Given the description of an element on the screen output the (x, y) to click on. 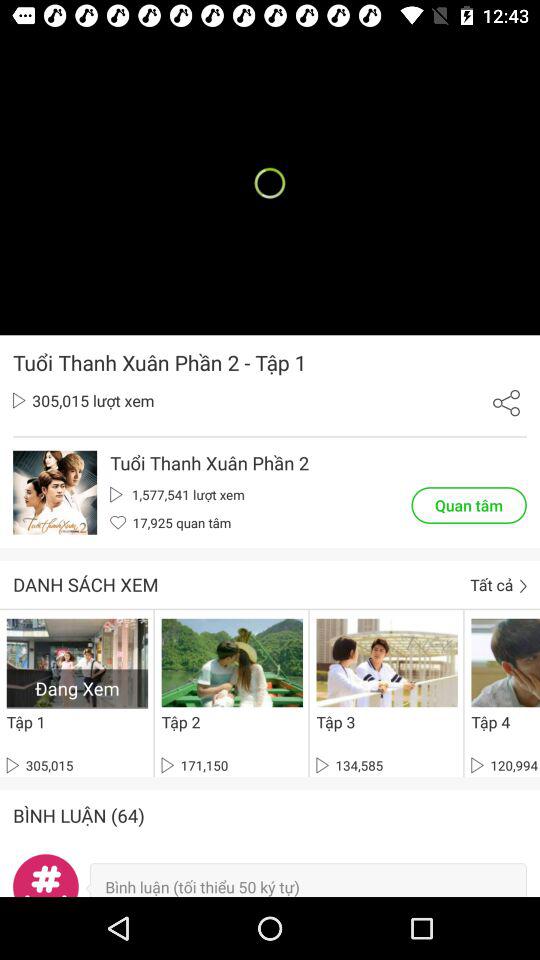
flip until the 134,585 item (349, 765)
